Given the description of an element on the screen output the (x, y) to click on. 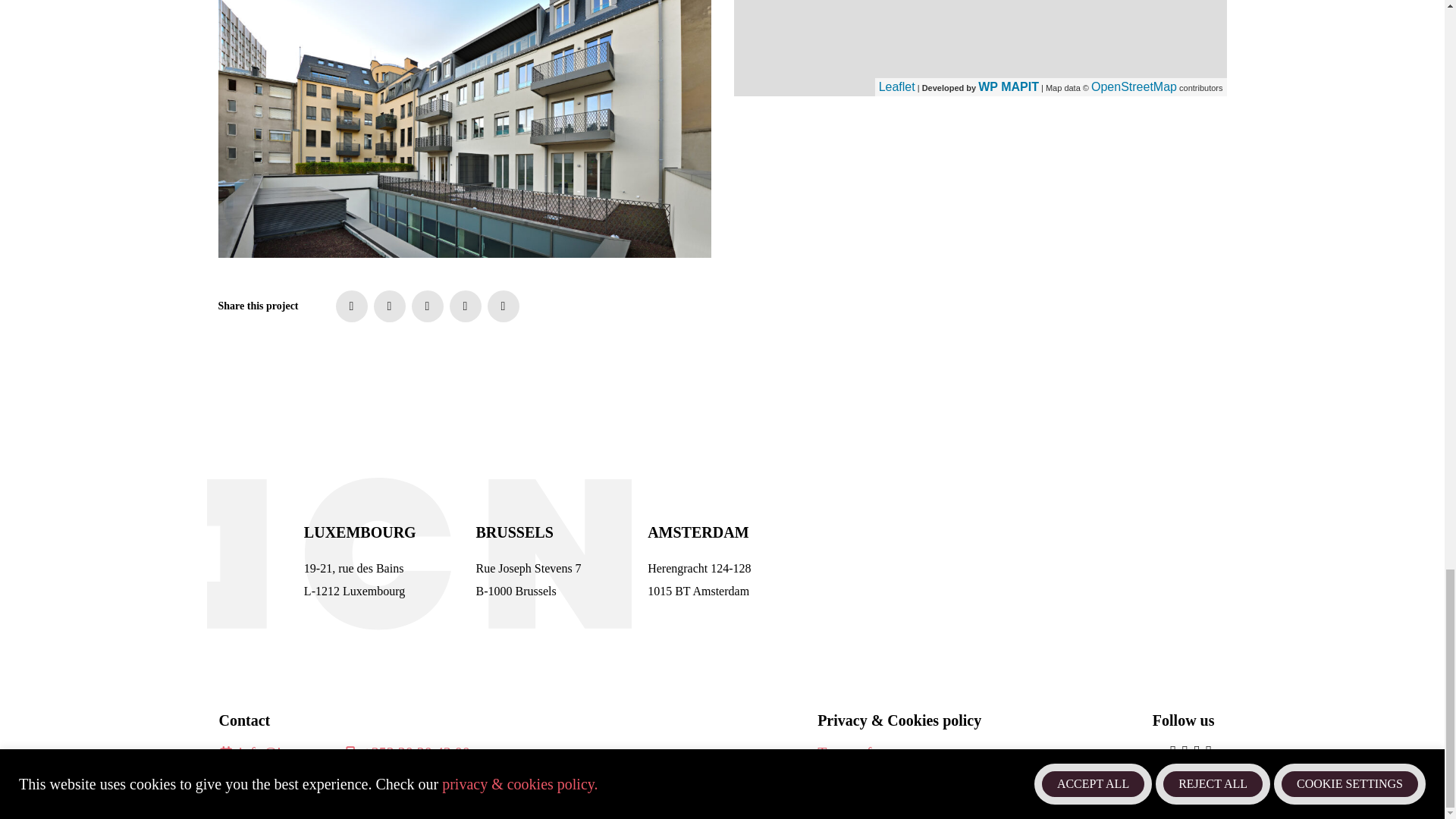
OpenStreetMap (1133, 86)
A JS library for interactive maps (897, 86)
Leaflet (897, 86)
Terms of use (855, 752)
WP MAPIT (1008, 86)
